Given the description of an element on the screen output the (x, y) to click on. 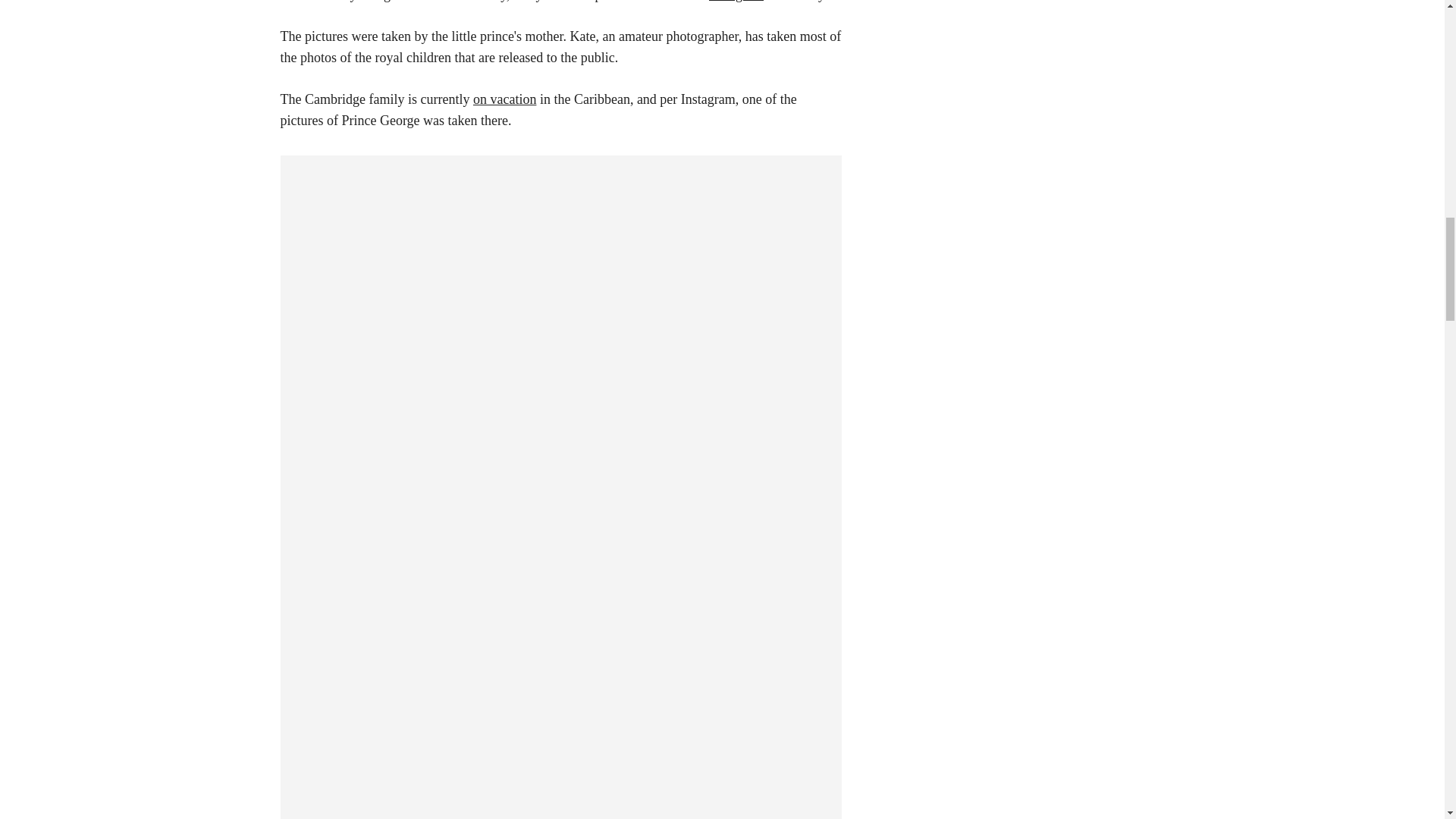
on vacation (504, 99)
Instagram (735, 1)
